Given the description of an element on the screen output the (x, y) to click on. 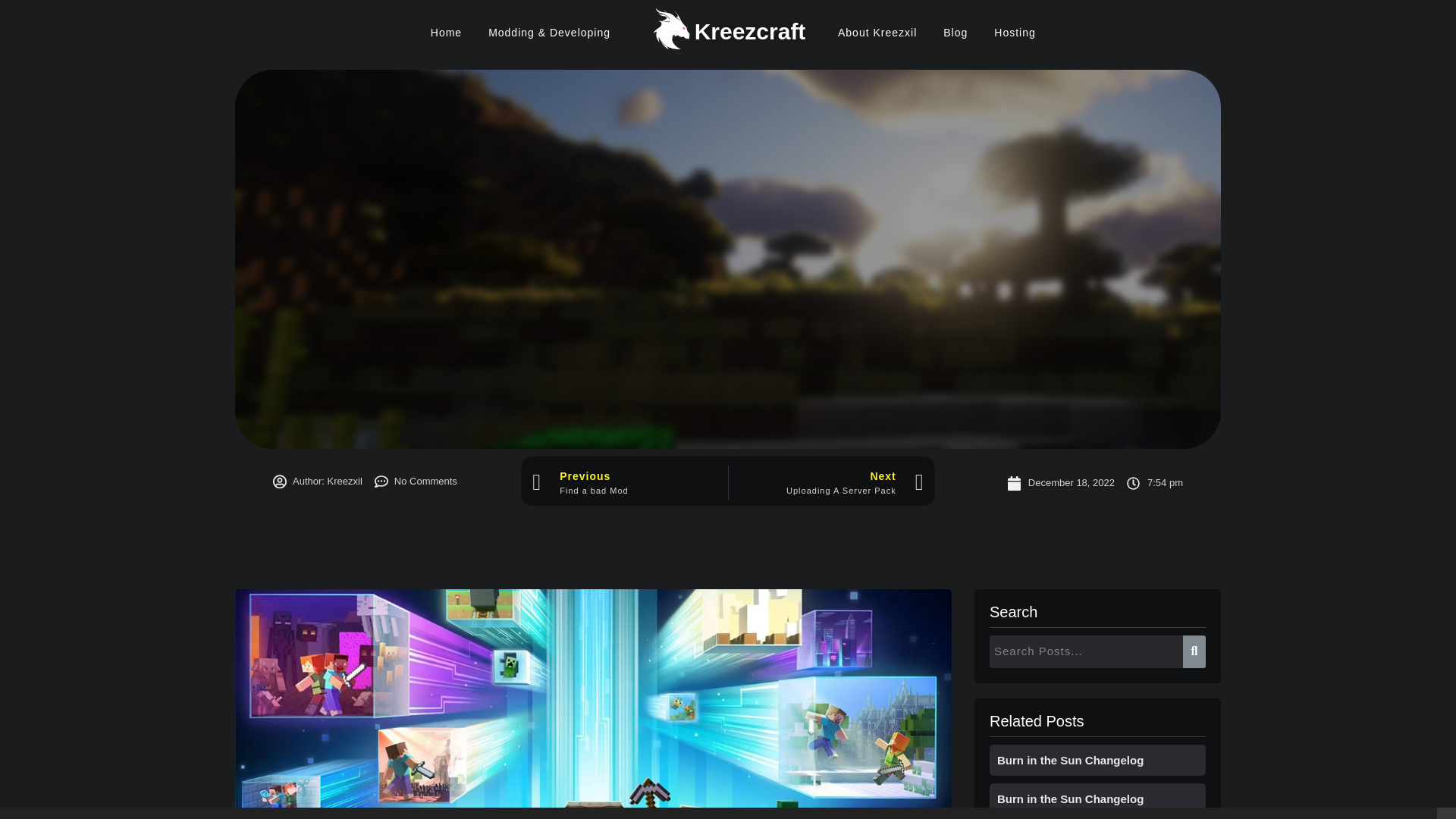
Blog (954, 32)
About Kreezxil (877, 32)
Burn in the Sun Changelog (1069, 759)
Home (446, 32)
Kreezcraft (750, 30)
Search (1086, 651)
Burn in the Sun Changelog (1069, 797)
Hosting (1014, 32)
